Given the description of an element on the screen output the (x, y) to click on. 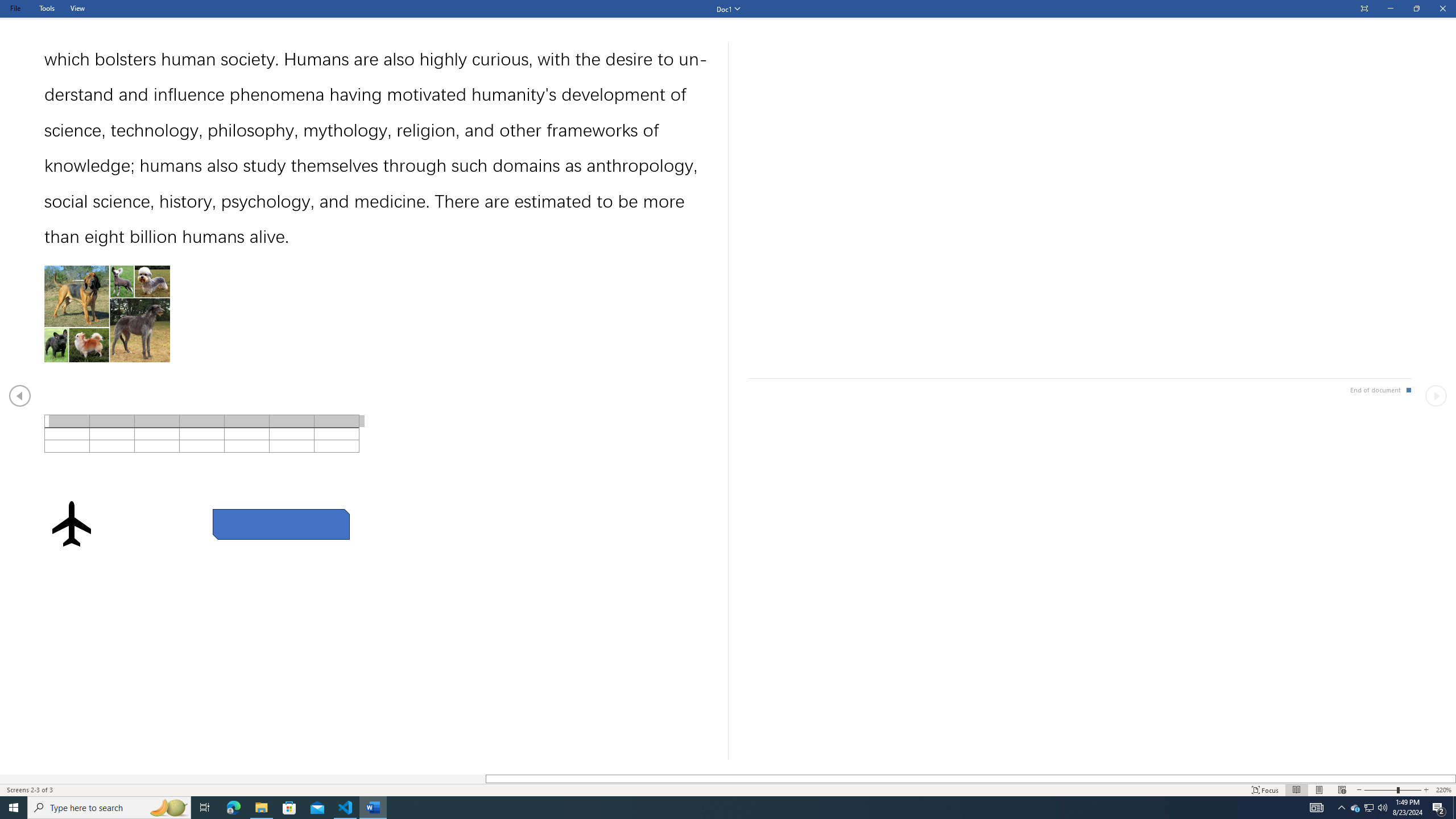
Class: NetUIScrollBar (728, 778)
Airplane with solid fill (71, 523)
Increase Text Size (1426, 790)
Class: MsoCommandBar (728, 789)
Morphological variation in six dogs (106, 313)
Tools (46, 8)
Page Number Screens 2-3 of 3  (29, 790)
